Given the description of an element on the screen output the (x, y) to click on. 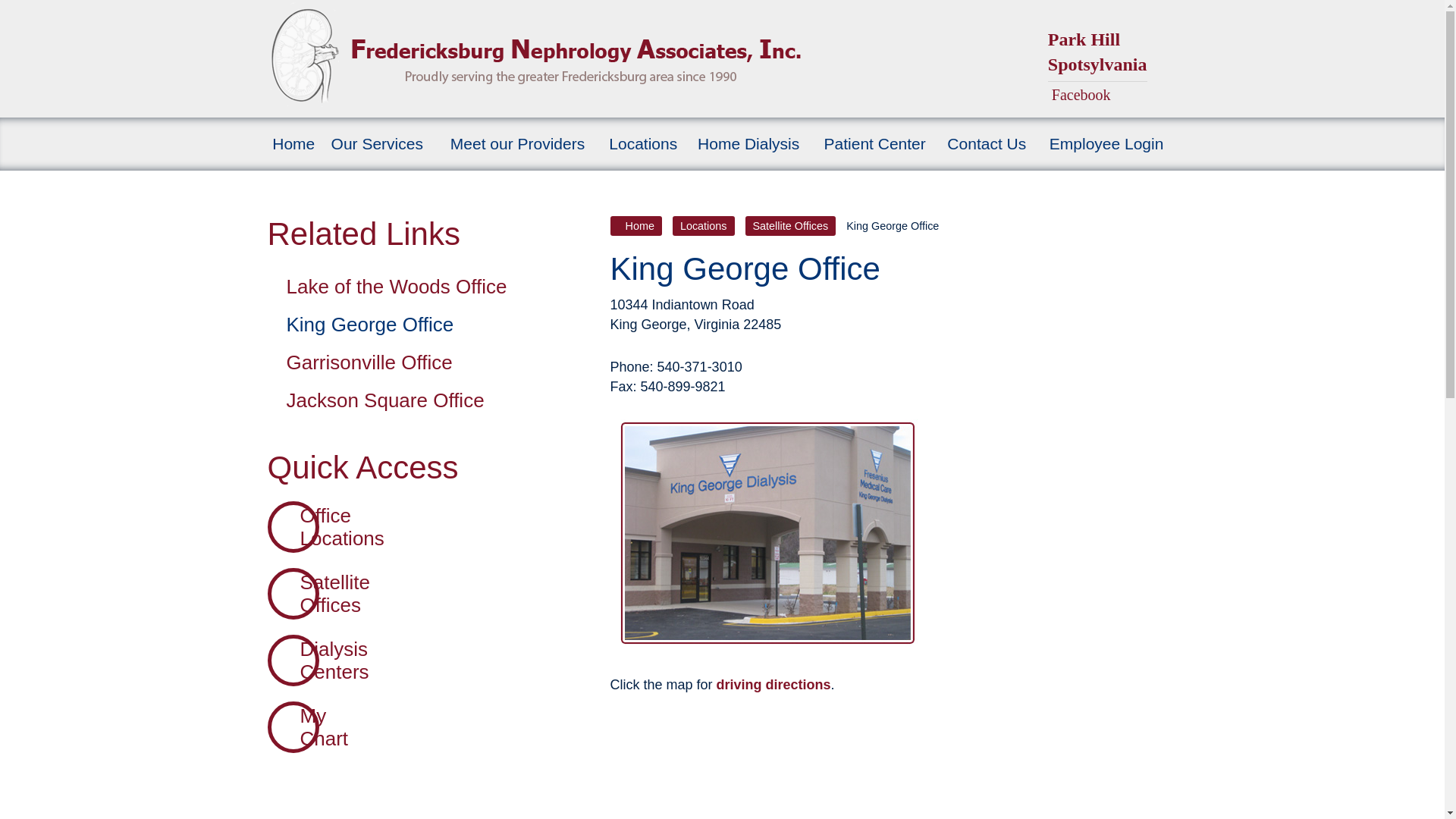
Meet our Providers (516, 143)
Park Hill (1083, 39)
Locations (703, 225)
Patient Center (873, 143)
Satellite Offices (790, 225)
Home (636, 225)
Satellite Offices (327, 593)
Contact Us (986, 143)
Our Services (376, 143)
Locations (641, 143)
